Given the description of an element on the screen output the (x, y) to click on. 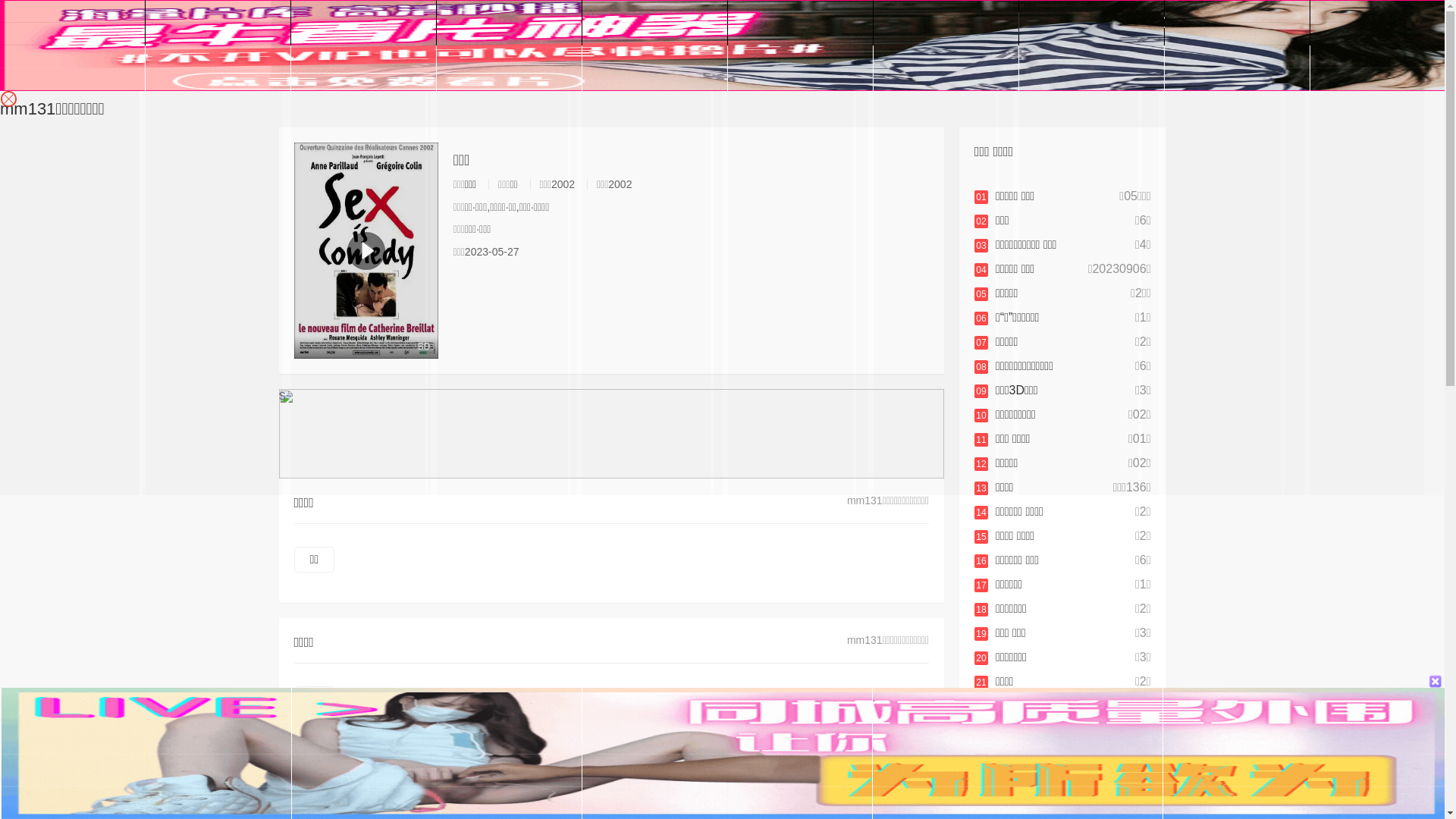
BD Element type: text (366, 250)
